Given the description of an element on the screen output the (x, y) to click on. 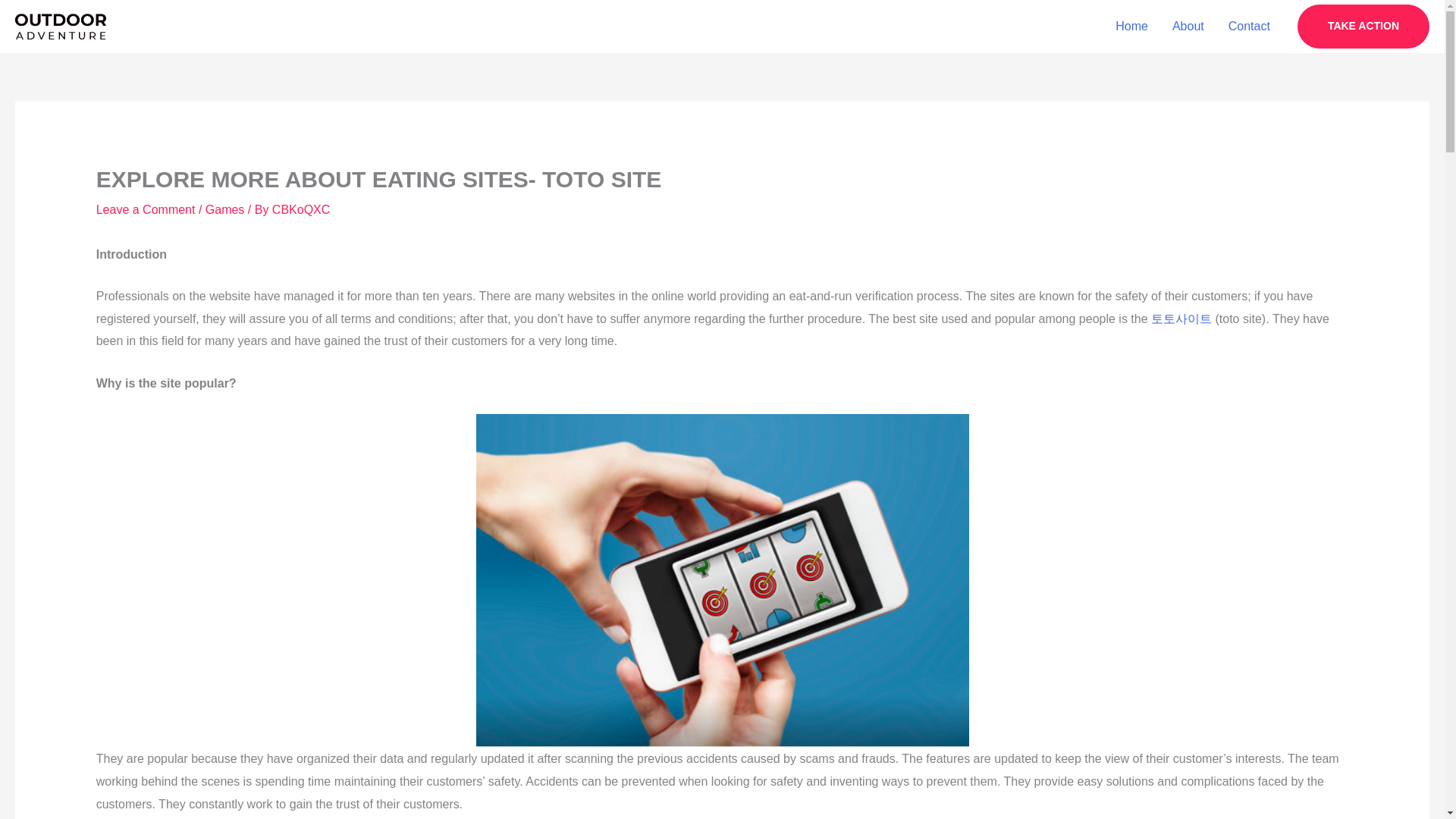
About (1187, 26)
TAKE ACTION (1363, 26)
CBKoQXC (301, 209)
Contact (1248, 26)
Leave a Comment (145, 209)
Home (1131, 26)
View all posts by CBKoQXC (301, 209)
Games (224, 209)
